Given the description of an element on the screen output the (x, y) to click on. 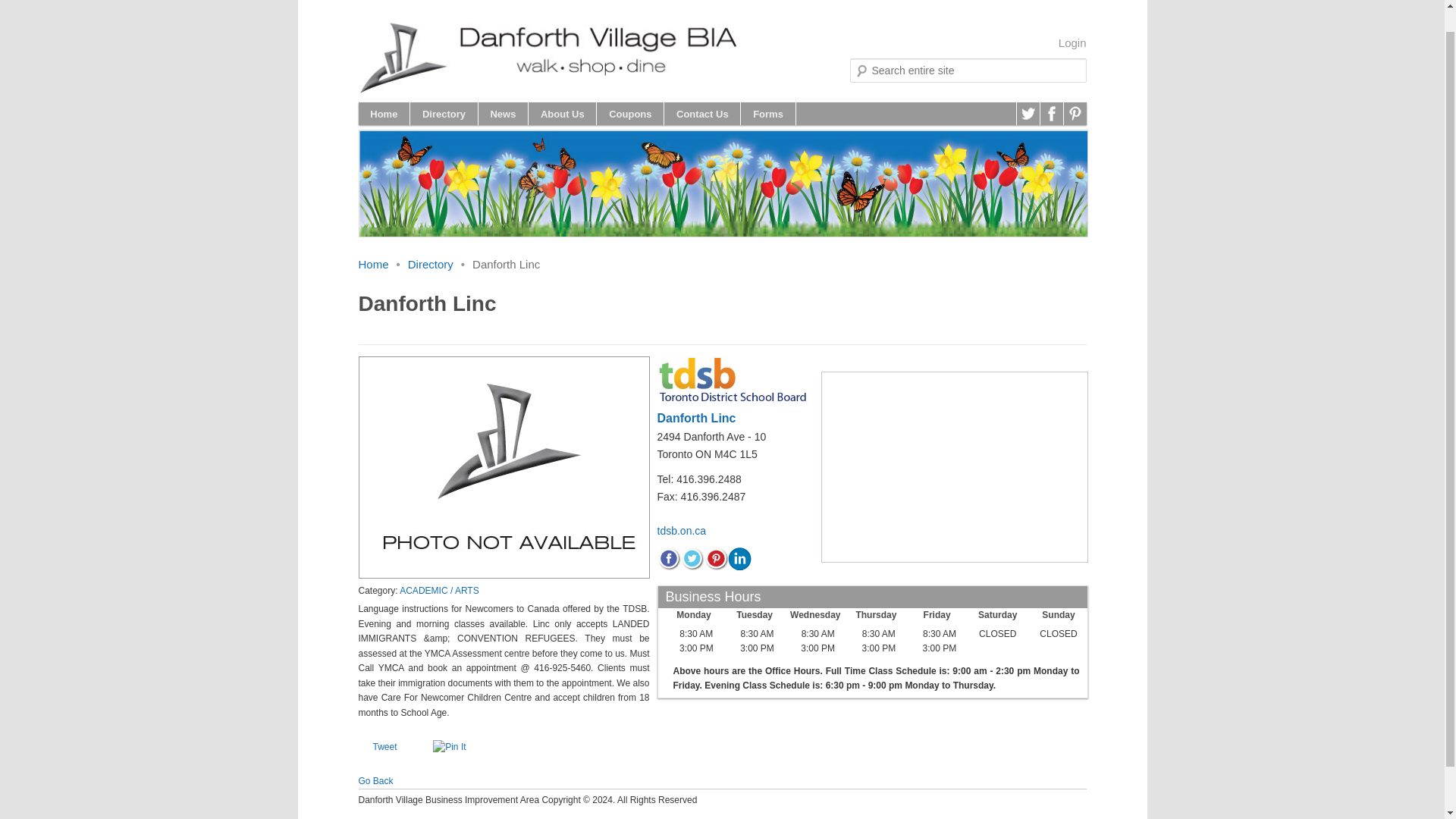
Skip to primary content (435, 113)
Danforth Linc (695, 418)
Go Back (375, 780)
Pin It (448, 747)
Tweet (384, 747)
Skip to secondary content (442, 113)
Contact Us (701, 113)
Directory (429, 264)
Login (1072, 42)
Coupons (629, 113)
